Given the description of an element on the screen output the (x, y) to click on. 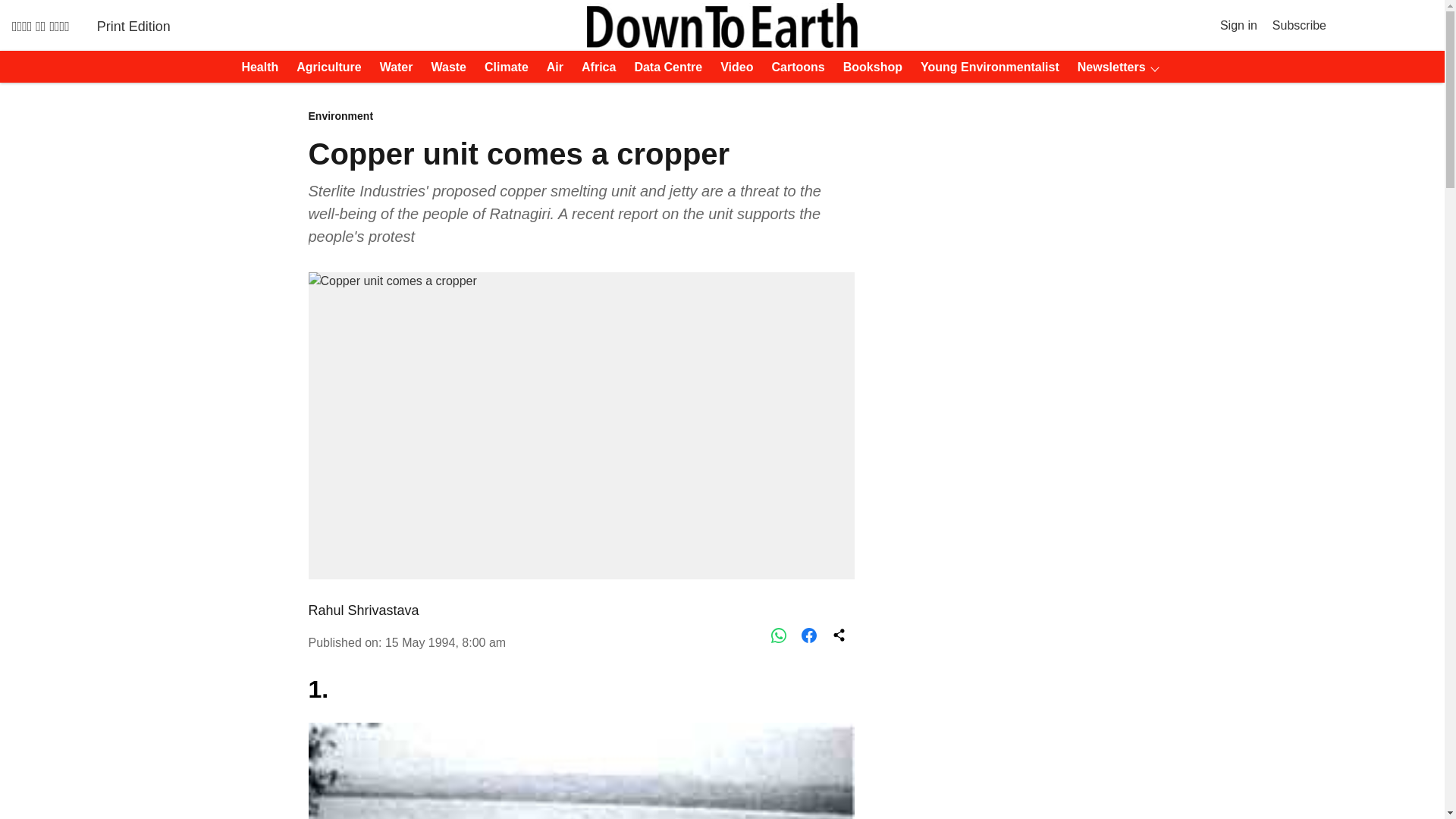
Waste (443, 67)
Agriculture (323, 67)
1994-05-15 00:00 (445, 642)
Climate (502, 67)
Print Edition (133, 26)
Video (731, 67)
The controversial jetty: invit  (580, 770)
Cartoons (793, 67)
Health (254, 67)
Water (392, 67)
